Given the description of an element on the screen output the (x, y) to click on. 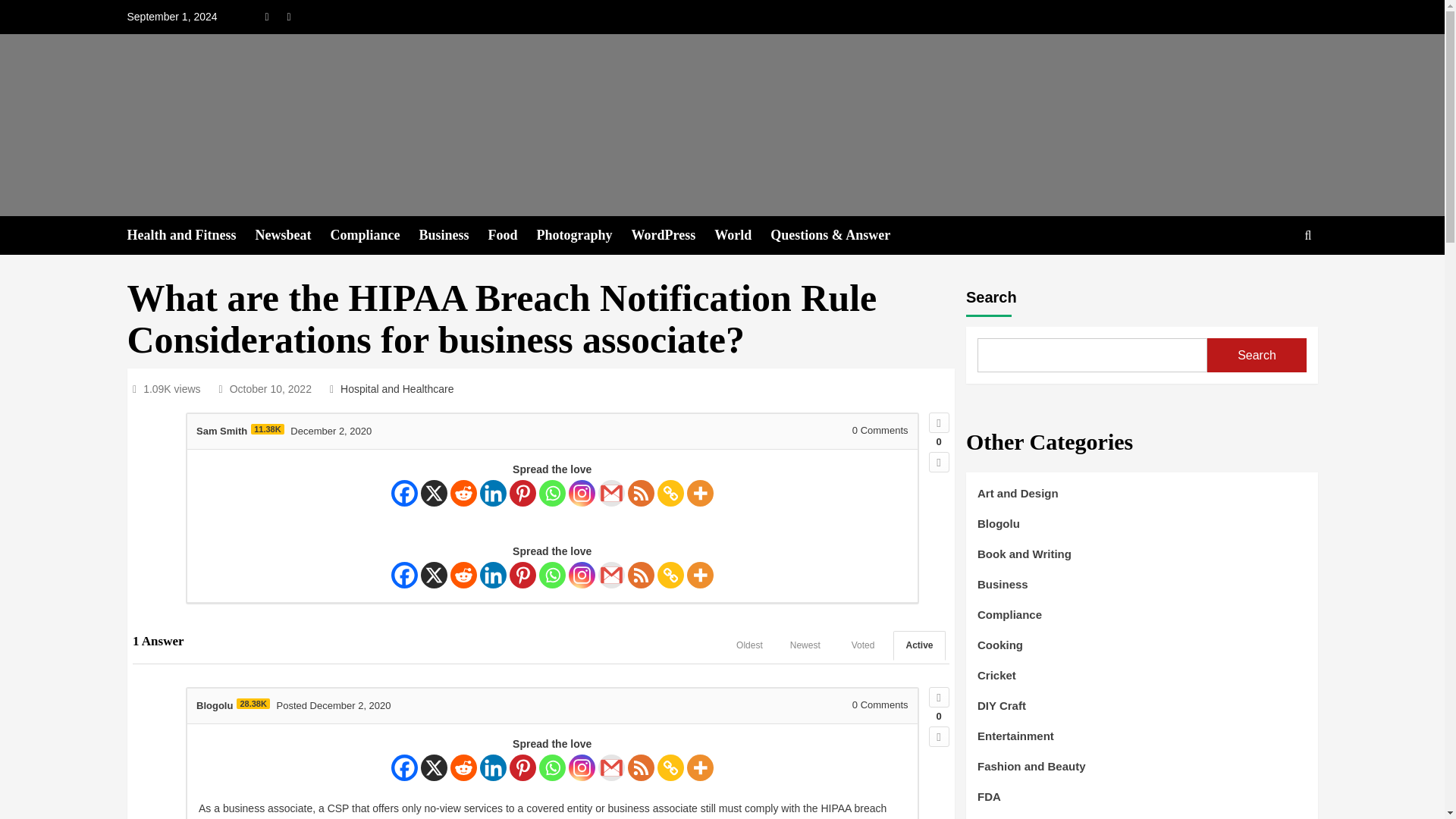
Facebook (404, 492)
Newsbeat (293, 235)
Sam Smith (221, 430)
WordPress (672, 235)
Up vote this question (938, 422)
Google Gmail (611, 492)
Linkedin (493, 492)
Business (453, 235)
Whatsapp (552, 492)
Compliance (374, 235)
